Given the description of an element on the screen output the (x, y) to click on. 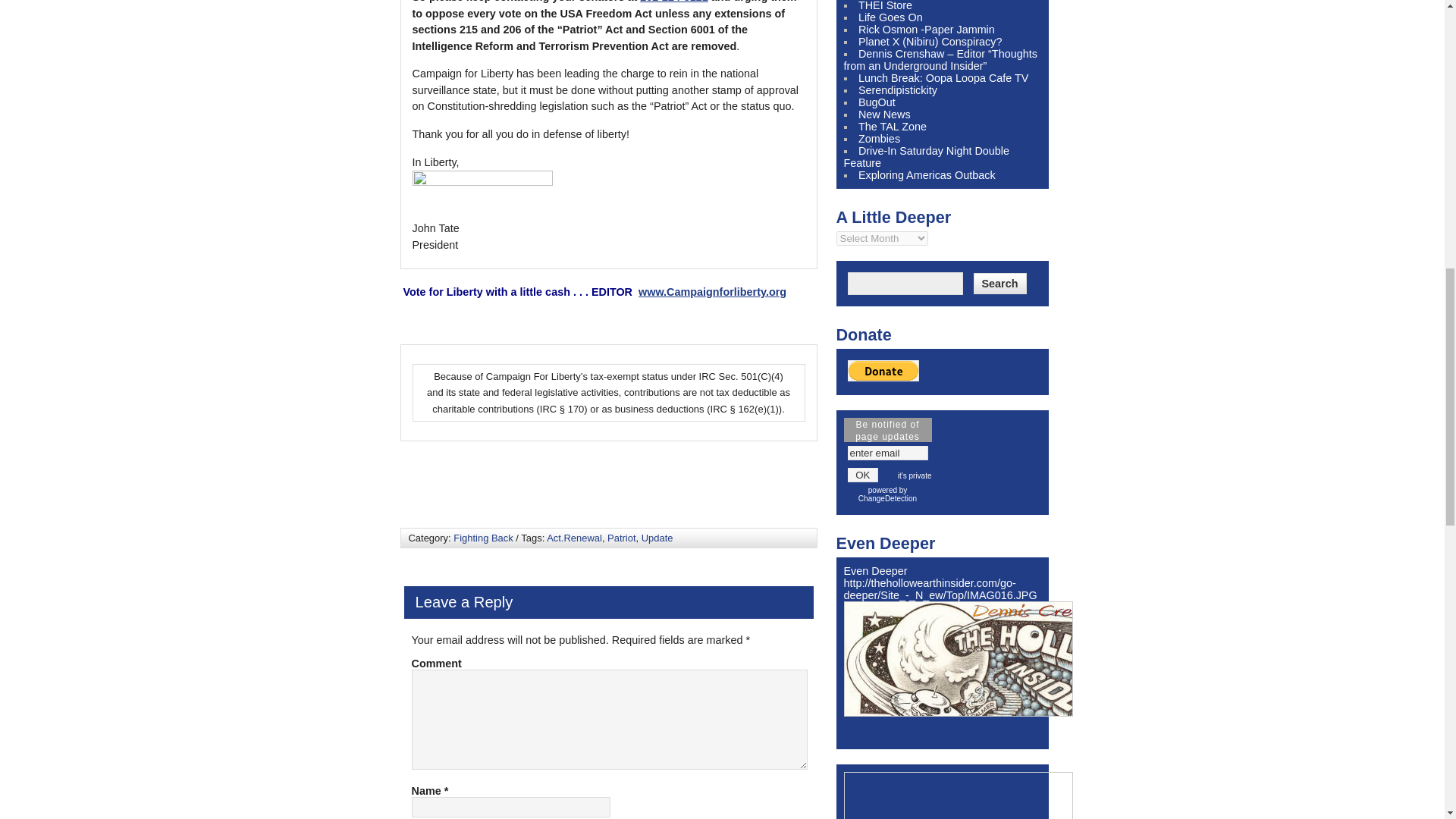
Search (1000, 283)
Act.Renewal (574, 537)
 OK  (863, 474)
Fighting Back (482, 537)
www.Campaignforliberty.org (712, 291)
Patriot (620, 537)
enter email (887, 452)
Update (657, 537)
202-224-3121 (673, 1)
